Given the description of an element on the screen output the (x, y) to click on. 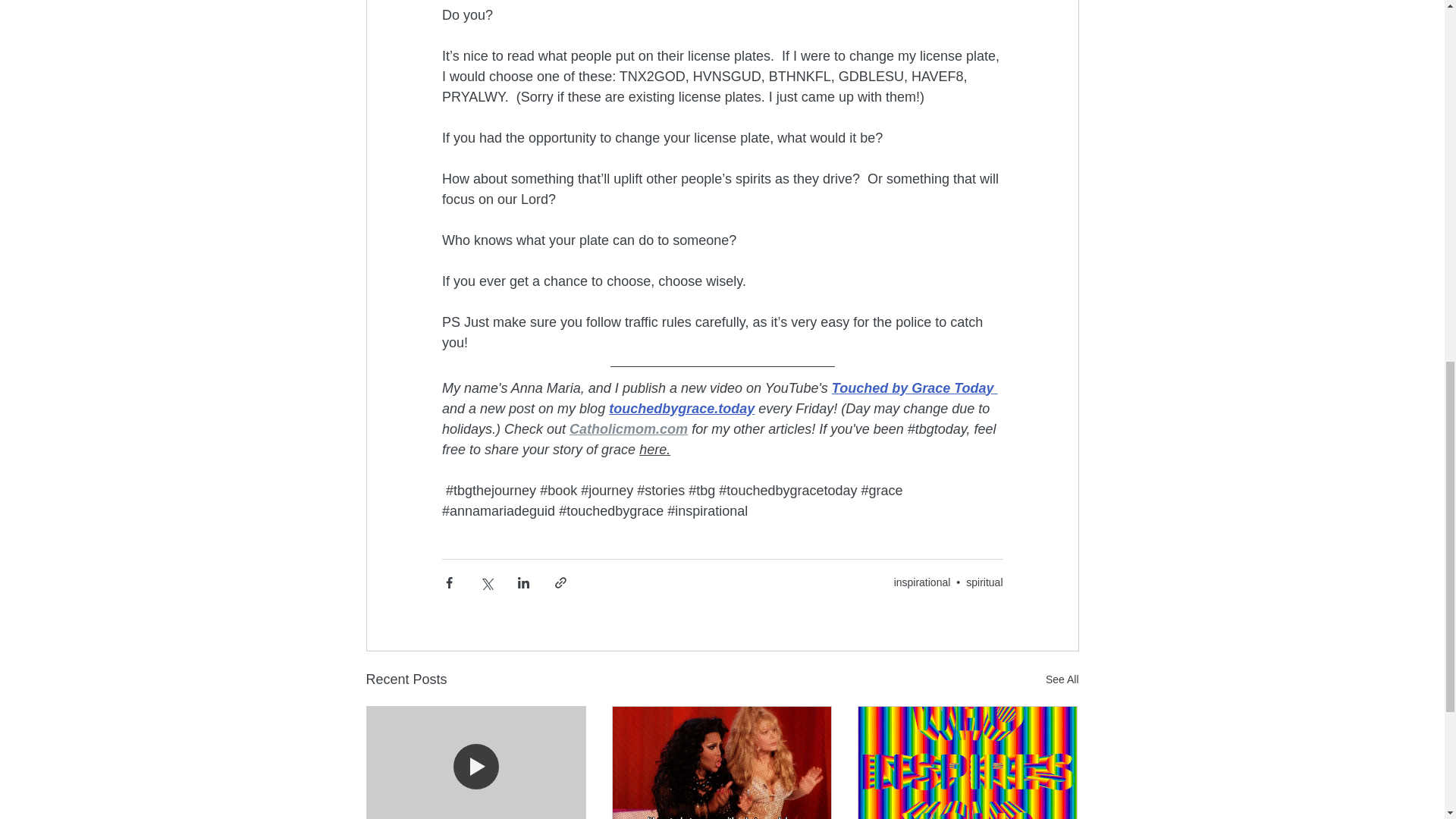
See All (1061, 680)
spiritual (984, 582)
Touched by Grace Today (911, 387)
inspirational (921, 582)
here (652, 448)
touchedbygrace.today (681, 407)
Catholicmom.com (628, 427)
